Given the description of an element on the screen output the (x, y) to click on. 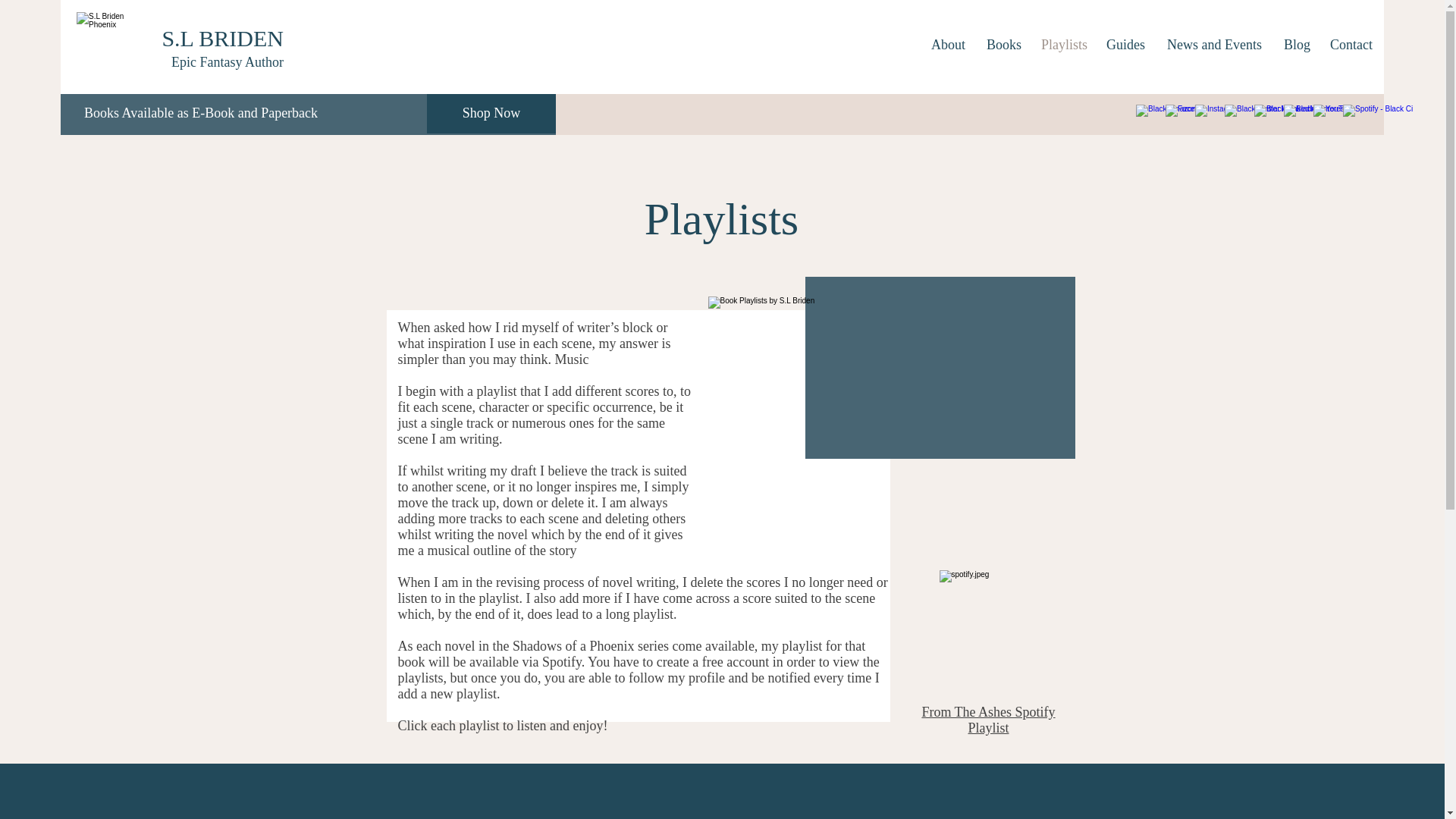
Guides (1125, 44)
S.L BRIDEN (222, 37)
Epic Fantasy Author (227, 61)
News and Events (1214, 44)
Blog (1295, 44)
Contact (1351, 44)
About (947, 44)
From The Ashes Spotify Playlist (987, 719)
Shop Now (491, 113)
Books (1002, 44)
Playlists (1061, 44)
